Given the description of an element on the screen output the (x, y) to click on. 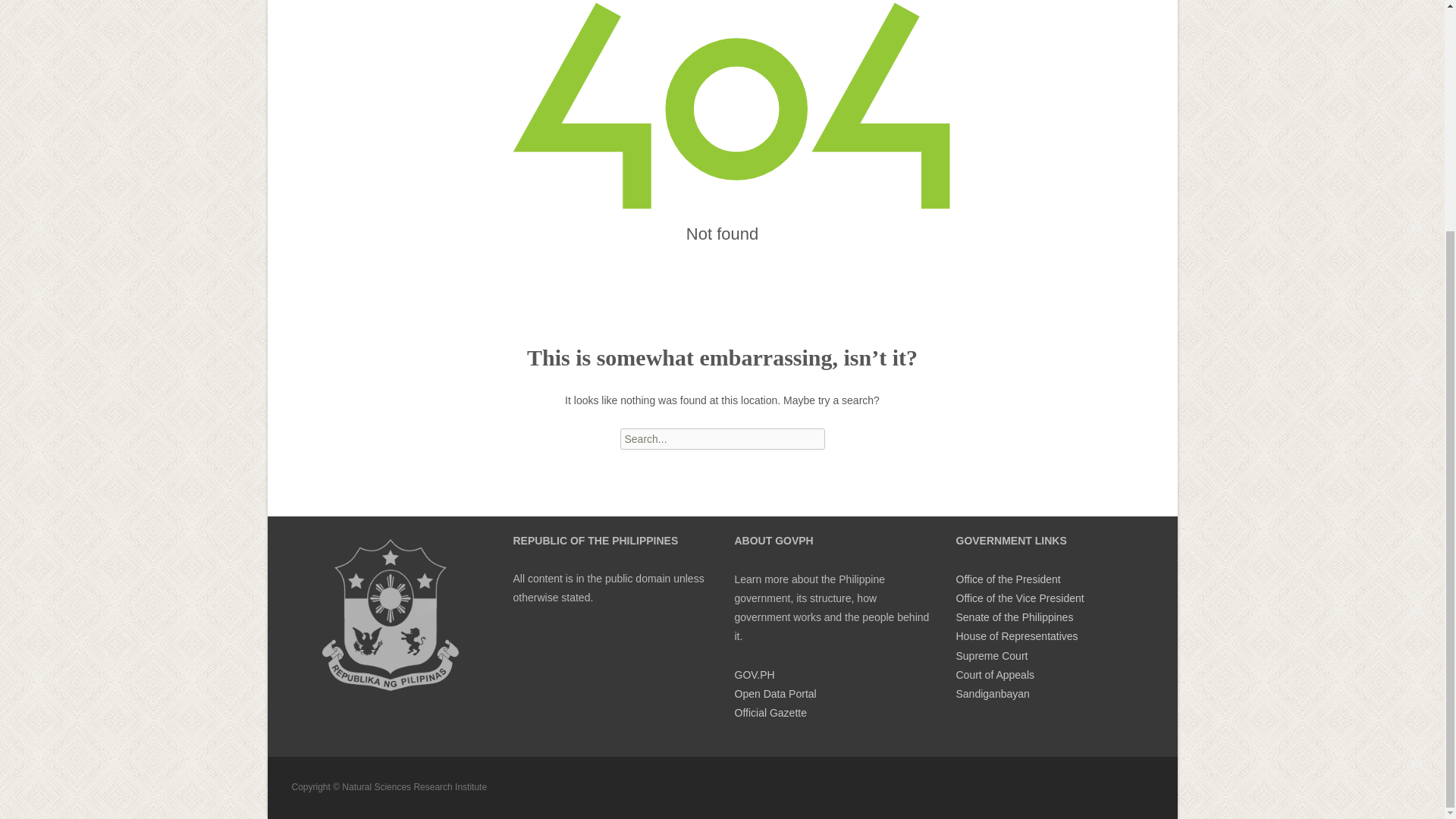
Senate of the Philippines (1014, 616)
Court of Appeals (994, 674)
Office of the Vice President (1019, 598)
Office of the President (1007, 579)
Supreme Court (991, 655)
Official Gazette (769, 712)
GOV.PH (753, 674)
Open Data Portal (774, 693)
Sandiganbayan (992, 693)
Search for: (722, 438)
